Given the description of an element on the screen output the (x, y) to click on. 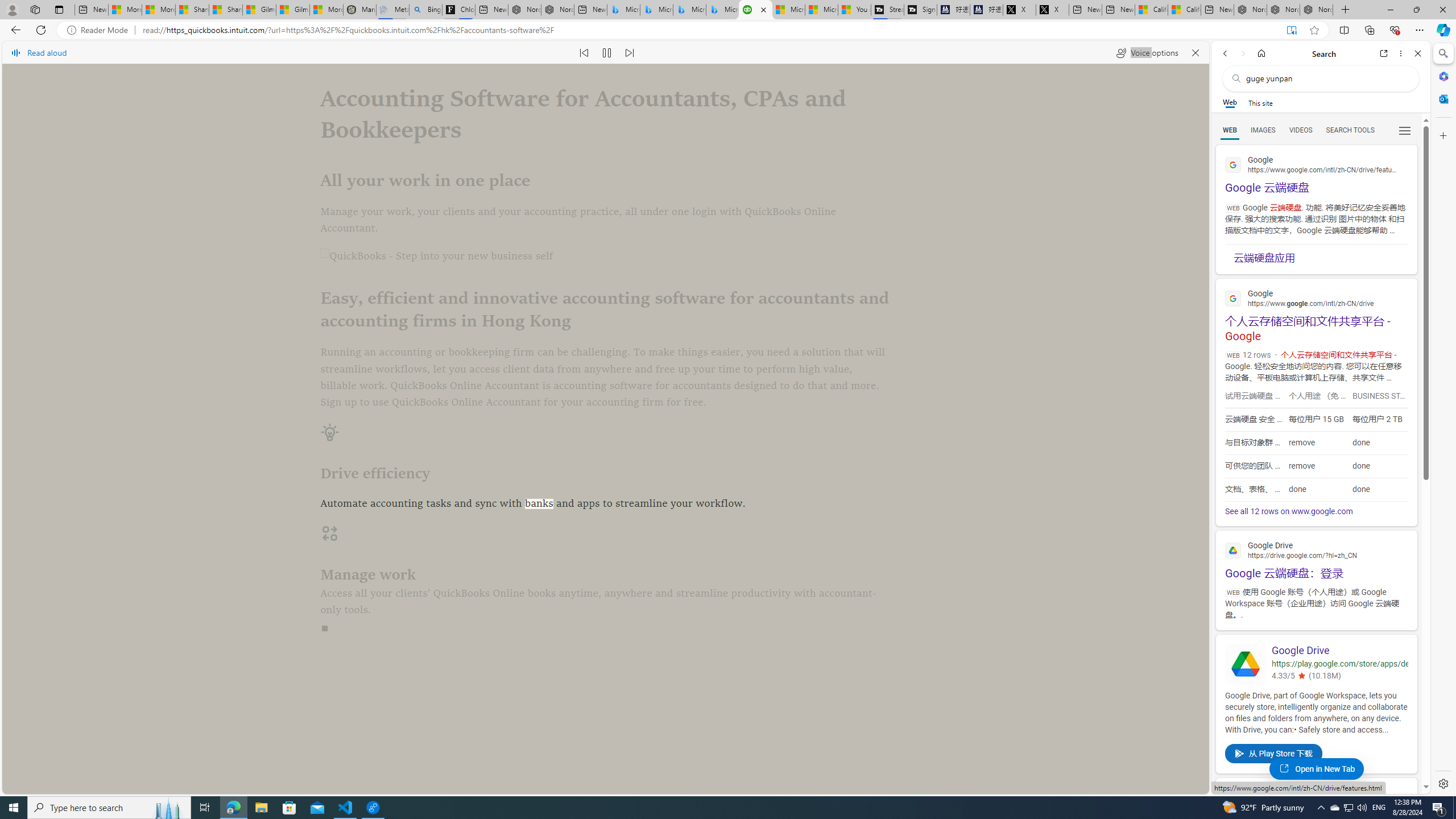
Chloe Sorvino (458, 9)
Nordace - Siena Pro 15 Essential Set (1316, 9)
Customize (1442, 135)
Nordace Siena Pro 15 Backpack (1283, 9)
Read previous paragraph (583, 52)
